Given the description of an element on the screen output the (x, y) to click on. 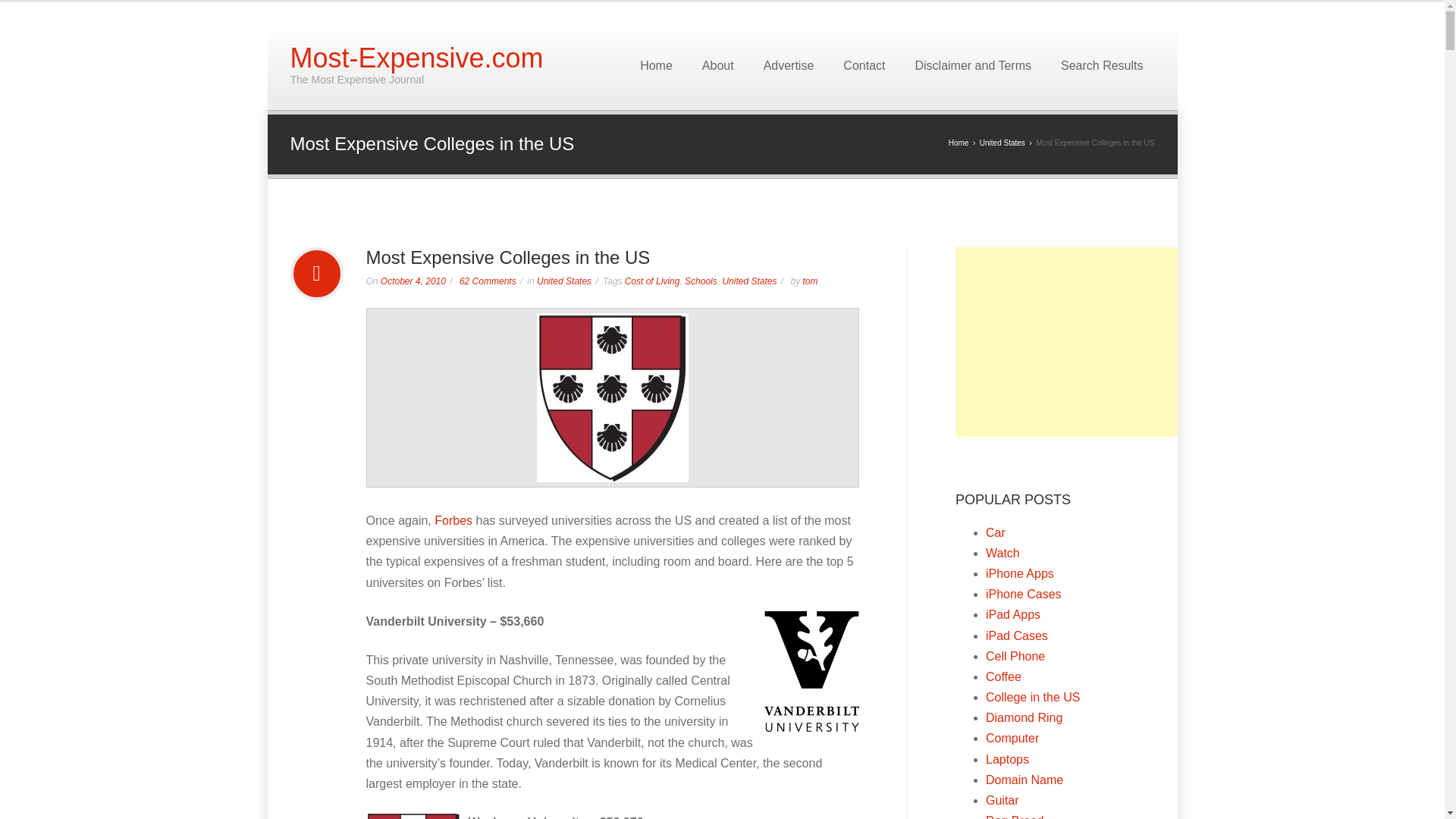
Most-Expensive.com (416, 57)
Disclaimer and Terms (972, 65)
United States (1002, 142)
October 4, 2010 (412, 281)
Forbes (452, 520)
United States (749, 281)
Search Results (1101, 65)
62 Comments (488, 281)
Schools (700, 281)
tom (809, 281)
